Given the description of an element on the screen output the (x, y) to click on. 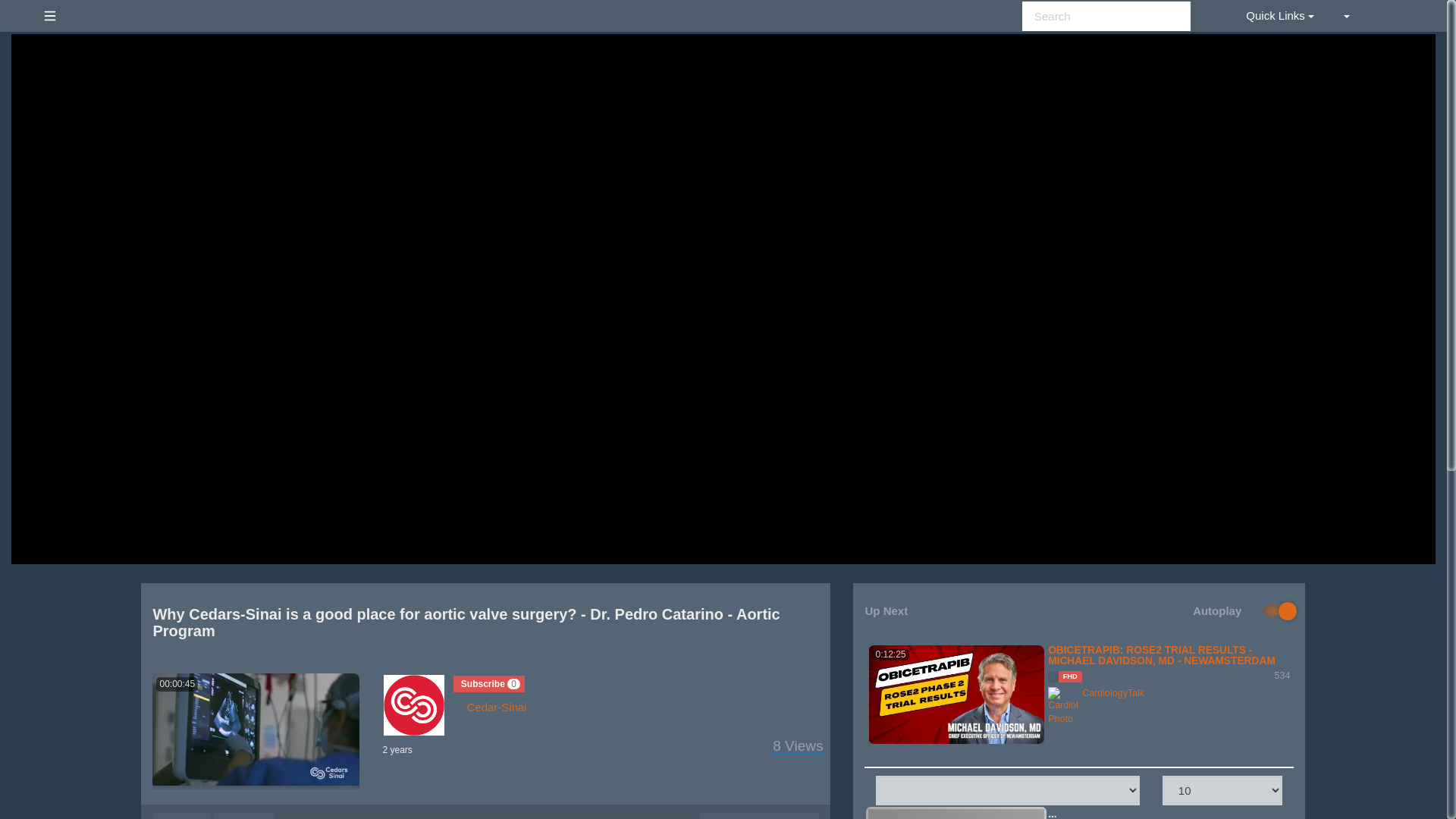
Quick Links (1279, 15)
Main Menu (49, 15)
Quick Links (1279, 15)
Login (1389, 15)
